Given the description of an element on the screen output the (x, y) to click on. 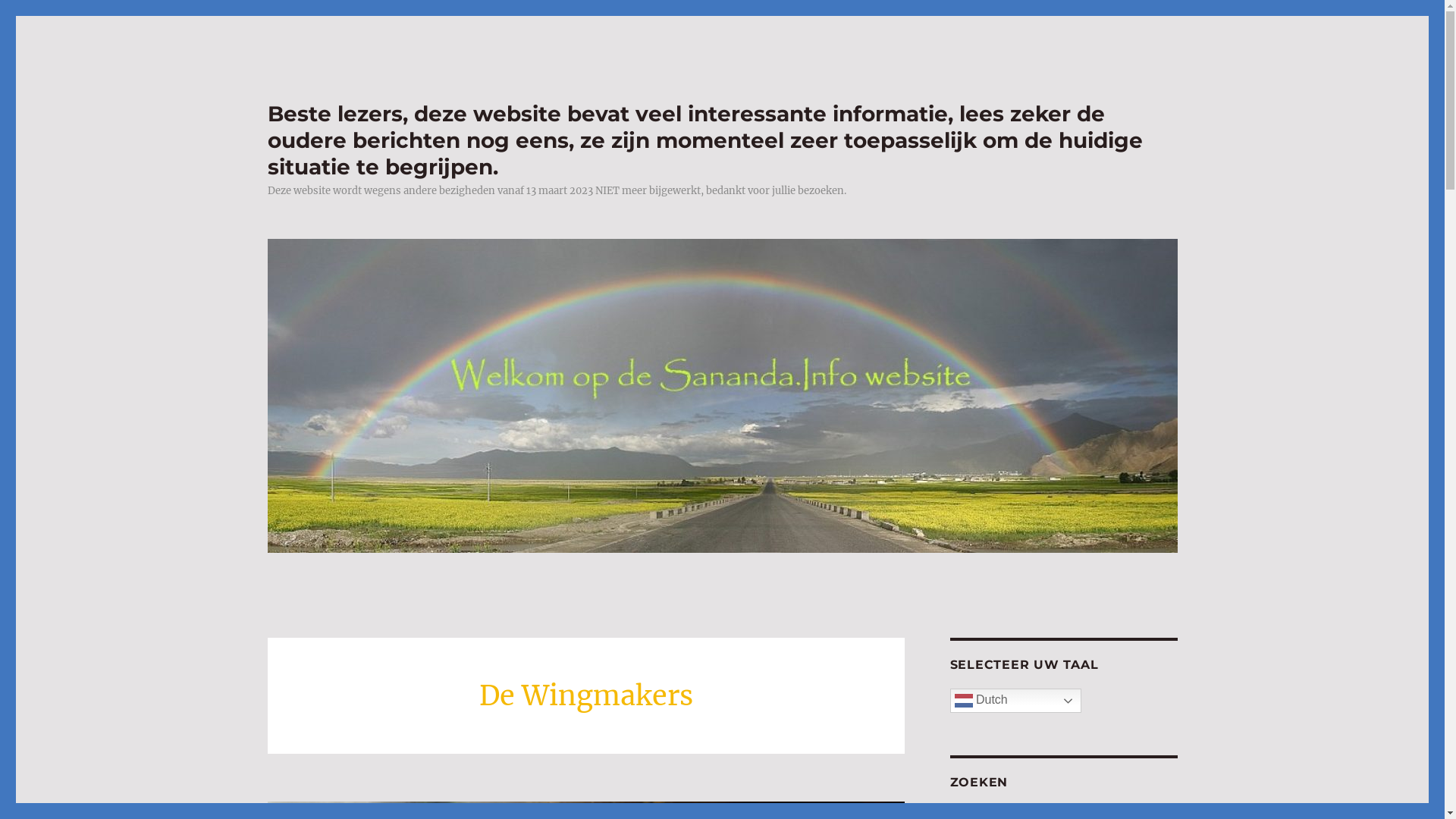
Dutch Element type: text (1014, 700)
